Given the description of an element on the screen output the (x, y) to click on. 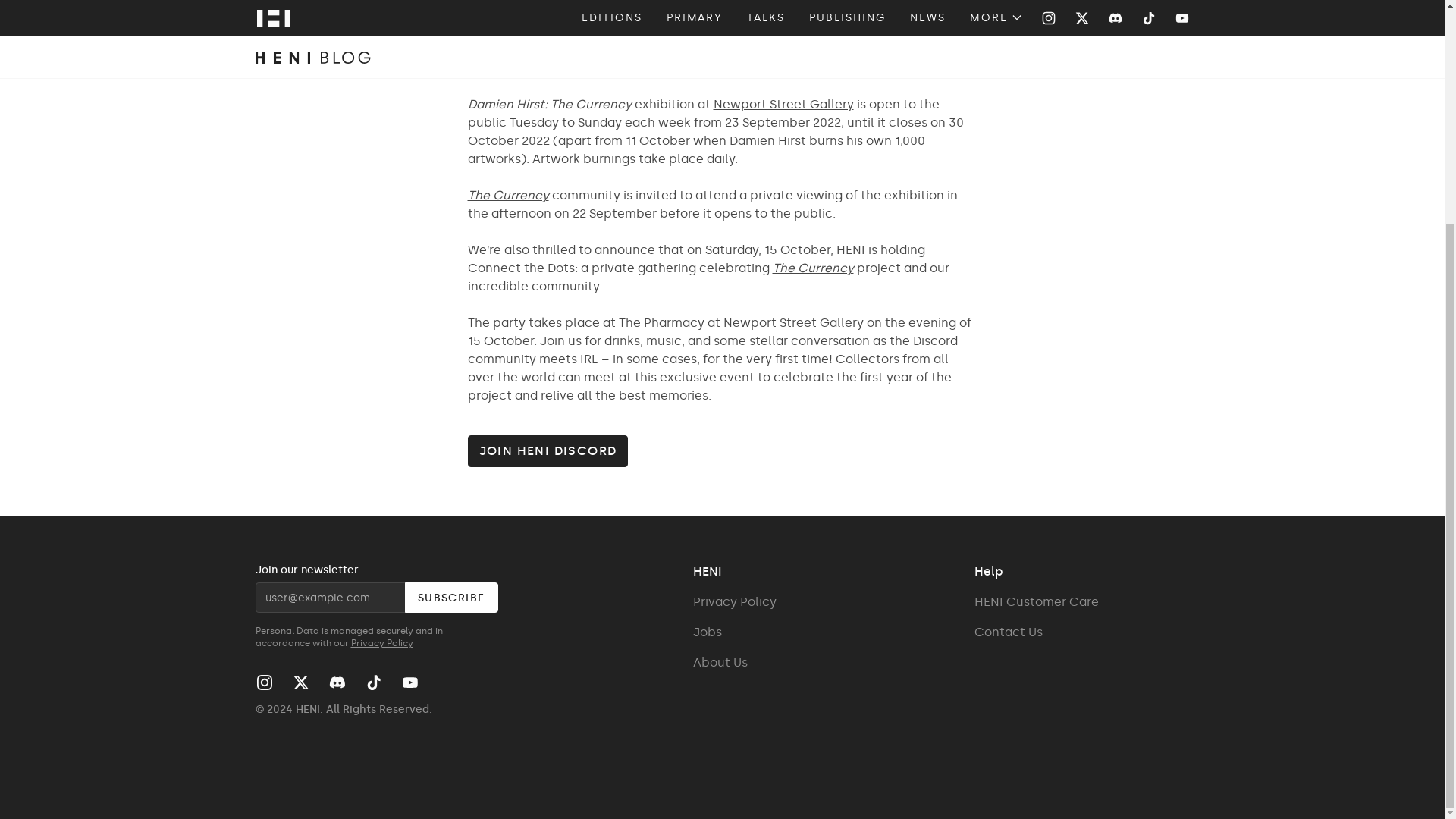
HENI Customer Care (1036, 601)
Contact Us (1036, 631)
The Currency community (543, 195)
JOIN HENI DISCORD (721, 450)
Privacy Policy (734, 601)
About Us (734, 662)
Newport Street Gallery (783, 104)
Jobs (734, 631)
JOIN HENI DISCORD (547, 450)
The Currency (812, 268)
